Given the description of an element on the screen output the (x, y) to click on. 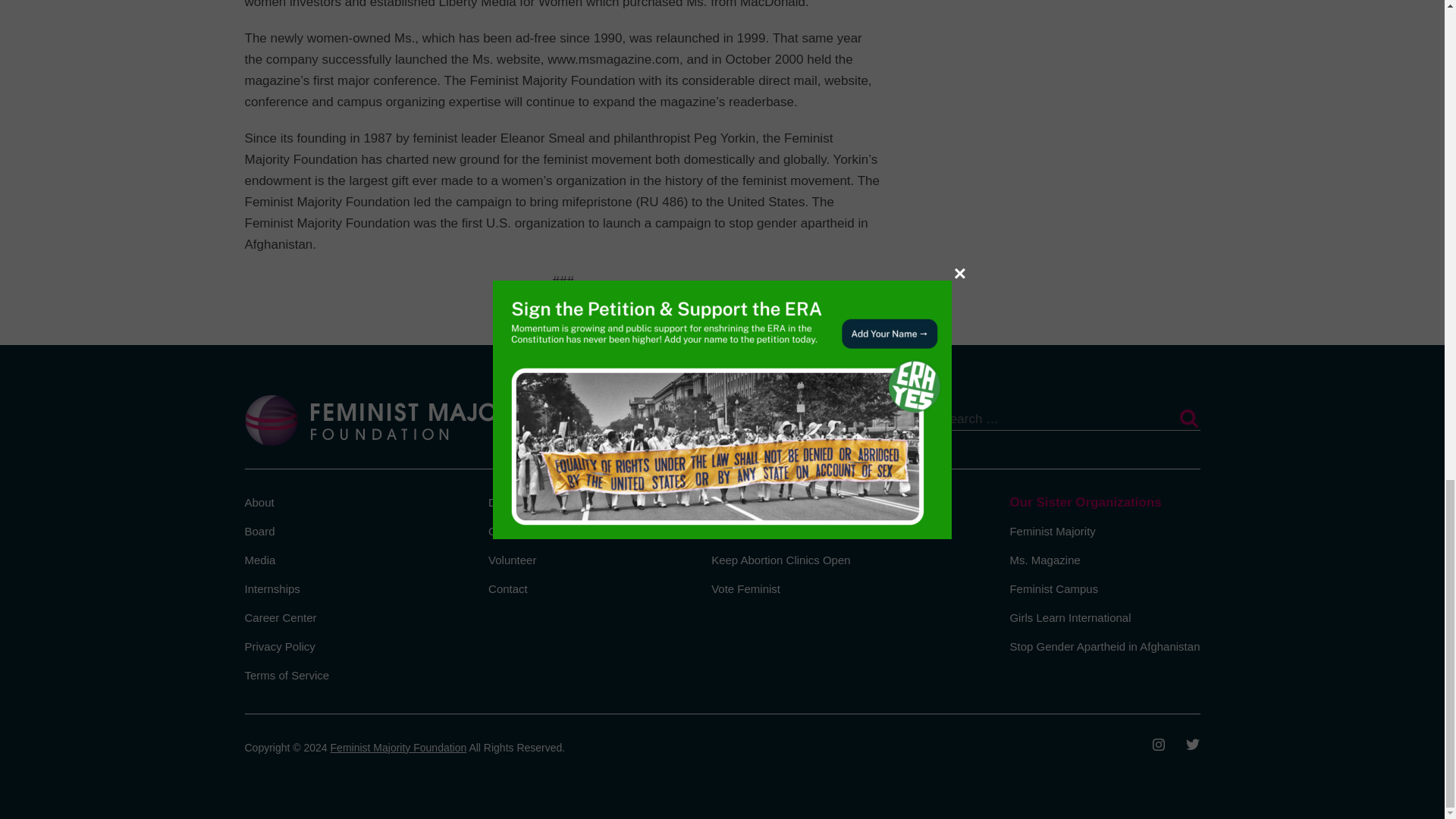
Donate (505, 502)
Terms of Service (286, 675)
Board (259, 530)
Search (1187, 418)
Privacy Policy (279, 645)
Search (1187, 418)
Search (1187, 418)
About (258, 502)
Career Center (279, 617)
Internships (271, 588)
Media (259, 559)
